Given the description of an element on the screen output the (x, y) to click on. 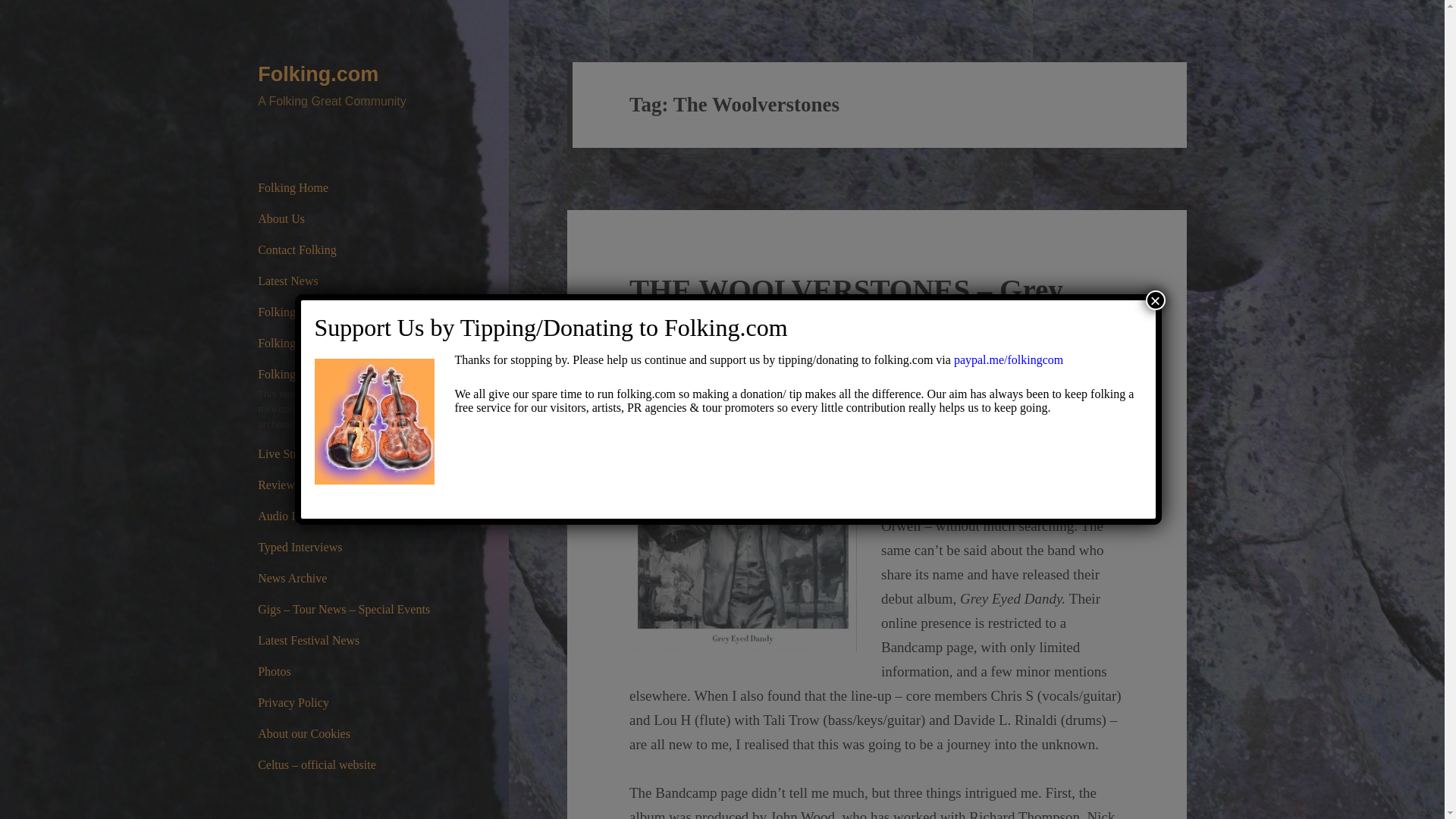
Latest News (350, 281)
Folking Home (350, 187)
Folking Awards (350, 312)
Latest Festival News (350, 640)
Reviews (350, 485)
Live Streams (350, 453)
Privacy Policy (350, 702)
About our Cookies (350, 734)
News Archive (350, 578)
Photos (350, 671)
Contact Folking (350, 250)
Typed Interviews (350, 547)
Folking Social Media Feeds (350, 343)
Audio Interviews (350, 516)
About Us (350, 218)
